Given the description of an element on the screen output the (x, y) to click on. 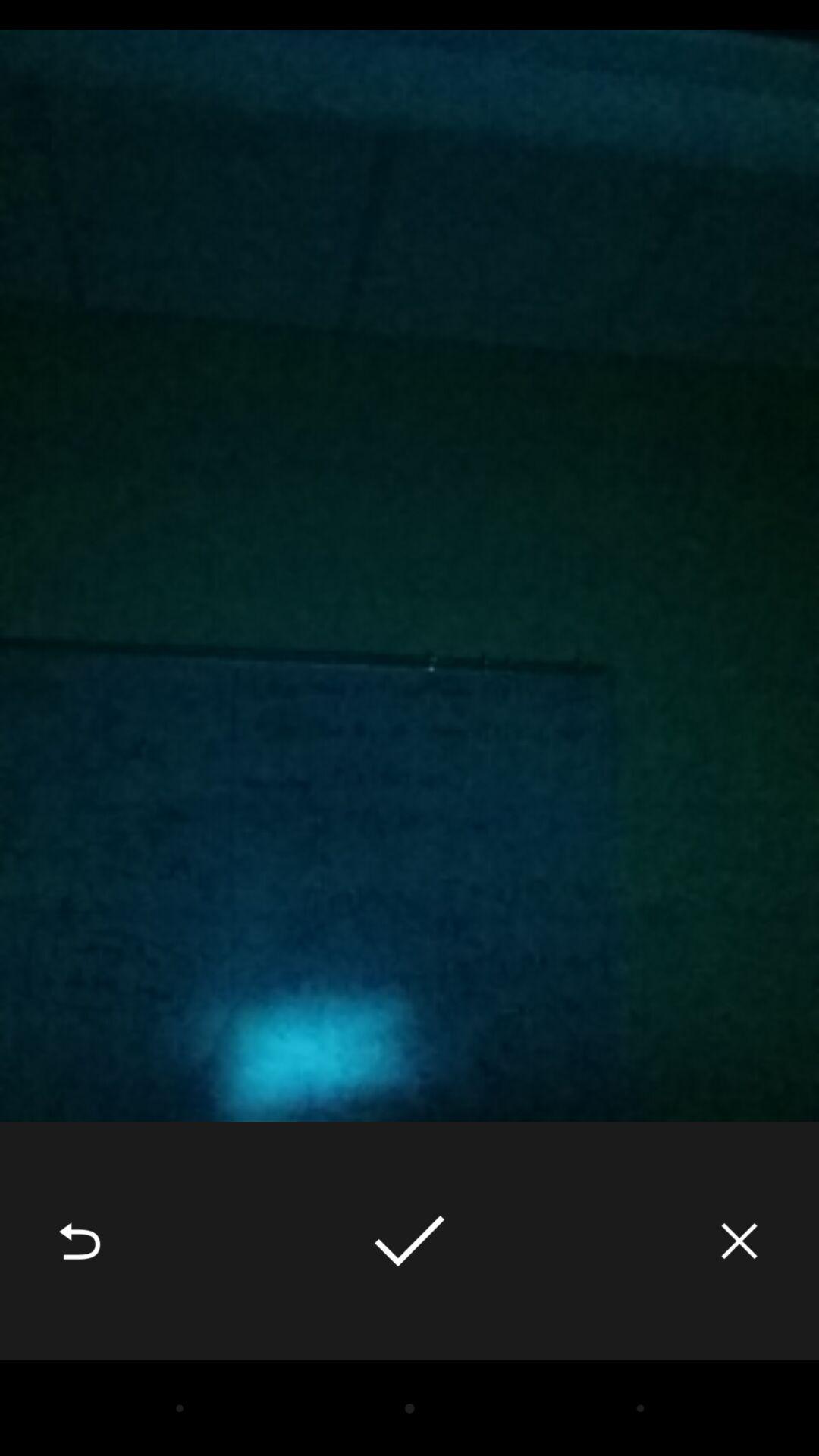
press icon at the bottom right corner (739, 1240)
